Given the description of an element on the screen output the (x, y) to click on. 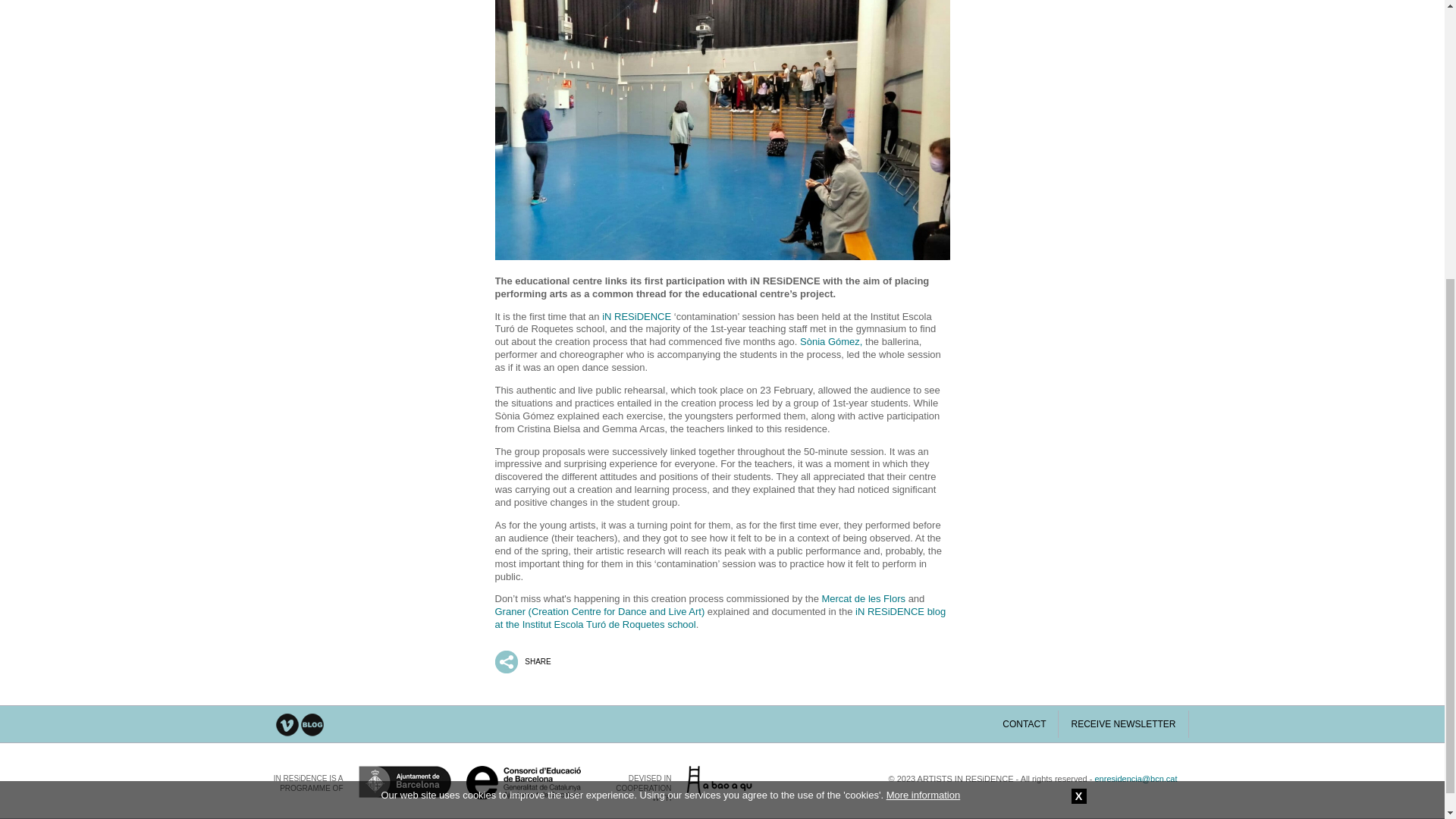
iN RESiDENCE (636, 316)
More information (923, 367)
X (1078, 368)
Close (1078, 368)
